Given the description of an element on the screen output the (x, y) to click on. 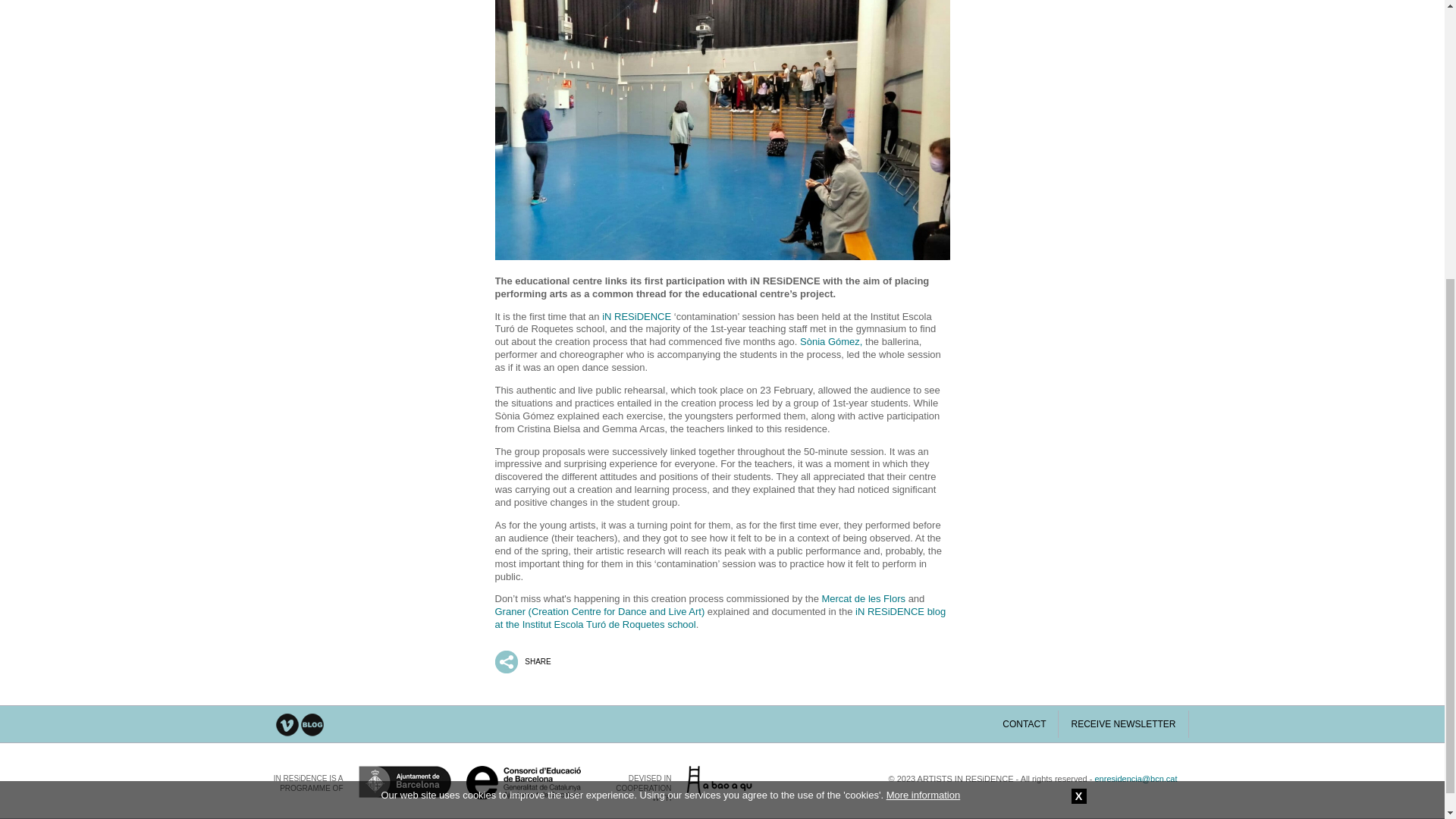
iN RESiDENCE (636, 316)
More information (923, 367)
X (1078, 368)
Close (1078, 368)
